Given the description of an element on the screen output the (x, y) to click on. 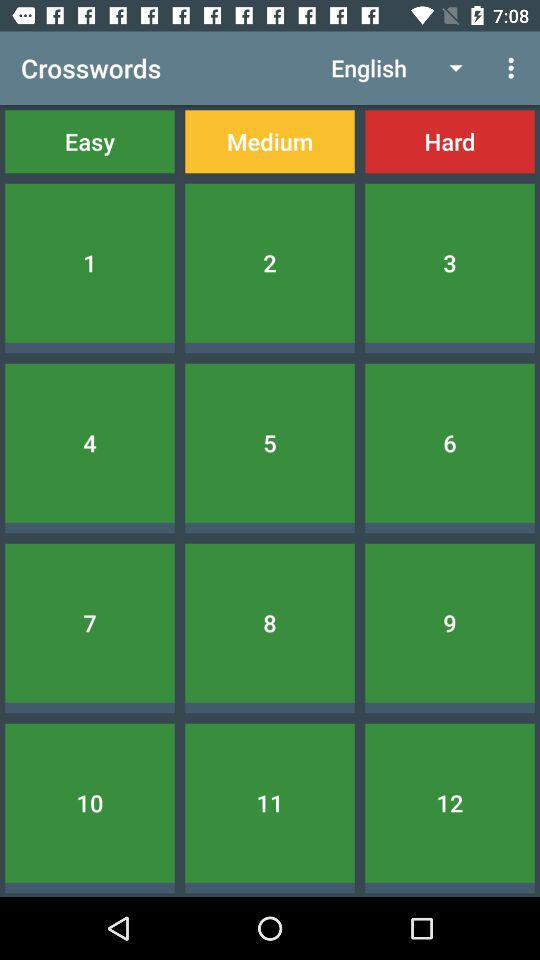
select icon next to hard item (269, 141)
